Given the description of an element on the screen output the (x, y) to click on. 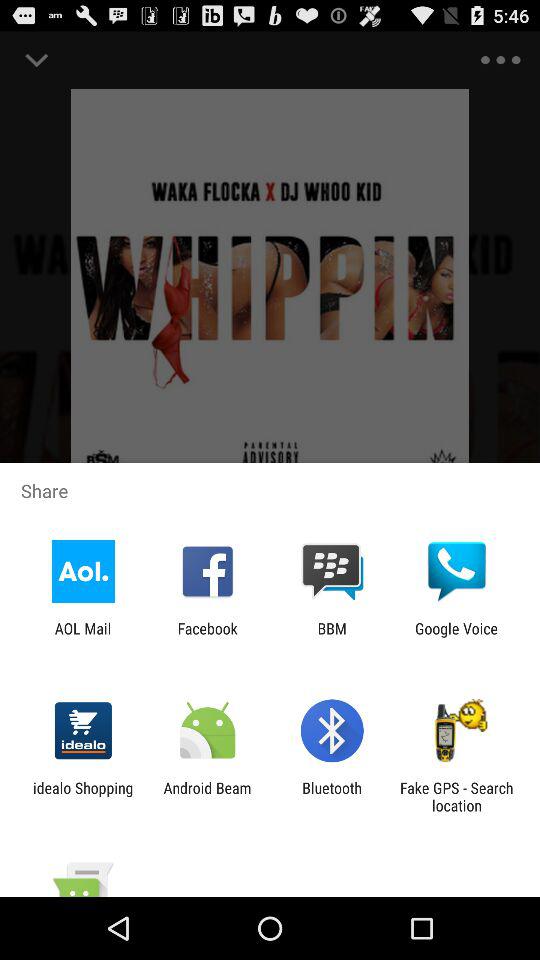
select the app next to the fake gps search item (331, 796)
